Given the description of an element on the screen output the (x, y) to click on. 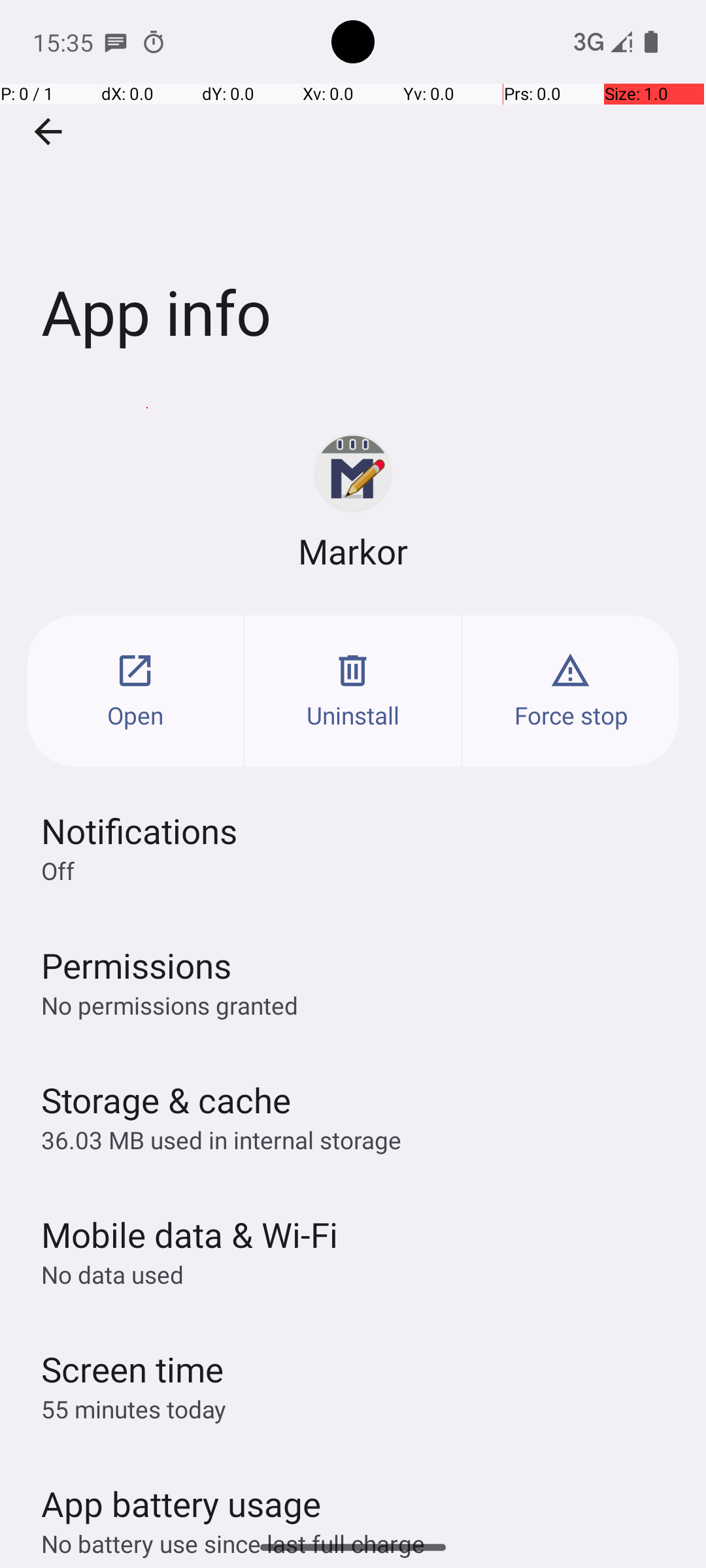
No permissions granted Element type: android.widget.TextView (169, 1004)
36.03 MB used in internal storage Element type: android.widget.TextView (221, 1139)
55 minutes today Element type: android.widget.TextView (133, 1408)
SMS Messenger notification: Freya Hernandez Element type: android.widget.ImageView (115, 41)
